Given the description of an element on the screen output the (x, y) to click on. 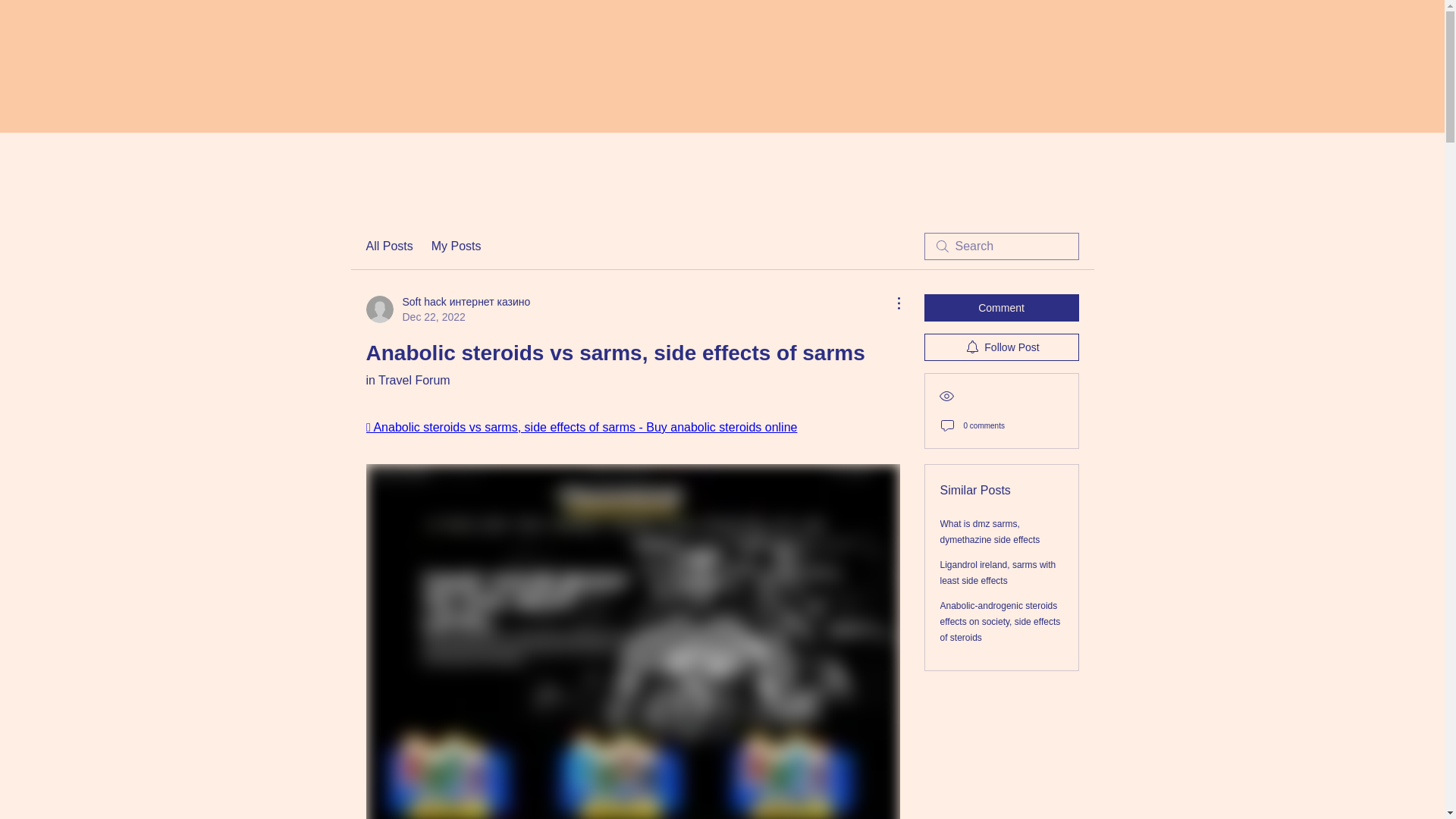
in Travel Forum (407, 379)
Comment (1000, 307)
Follow Post (1000, 347)
What is dmz sarms, dymethazine side effects (990, 531)
My Posts (455, 246)
All Posts (388, 246)
Ligandrol ireland, sarms with least side effects (998, 572)
